Given the description of an element on the screen output the (x, y) to click on. 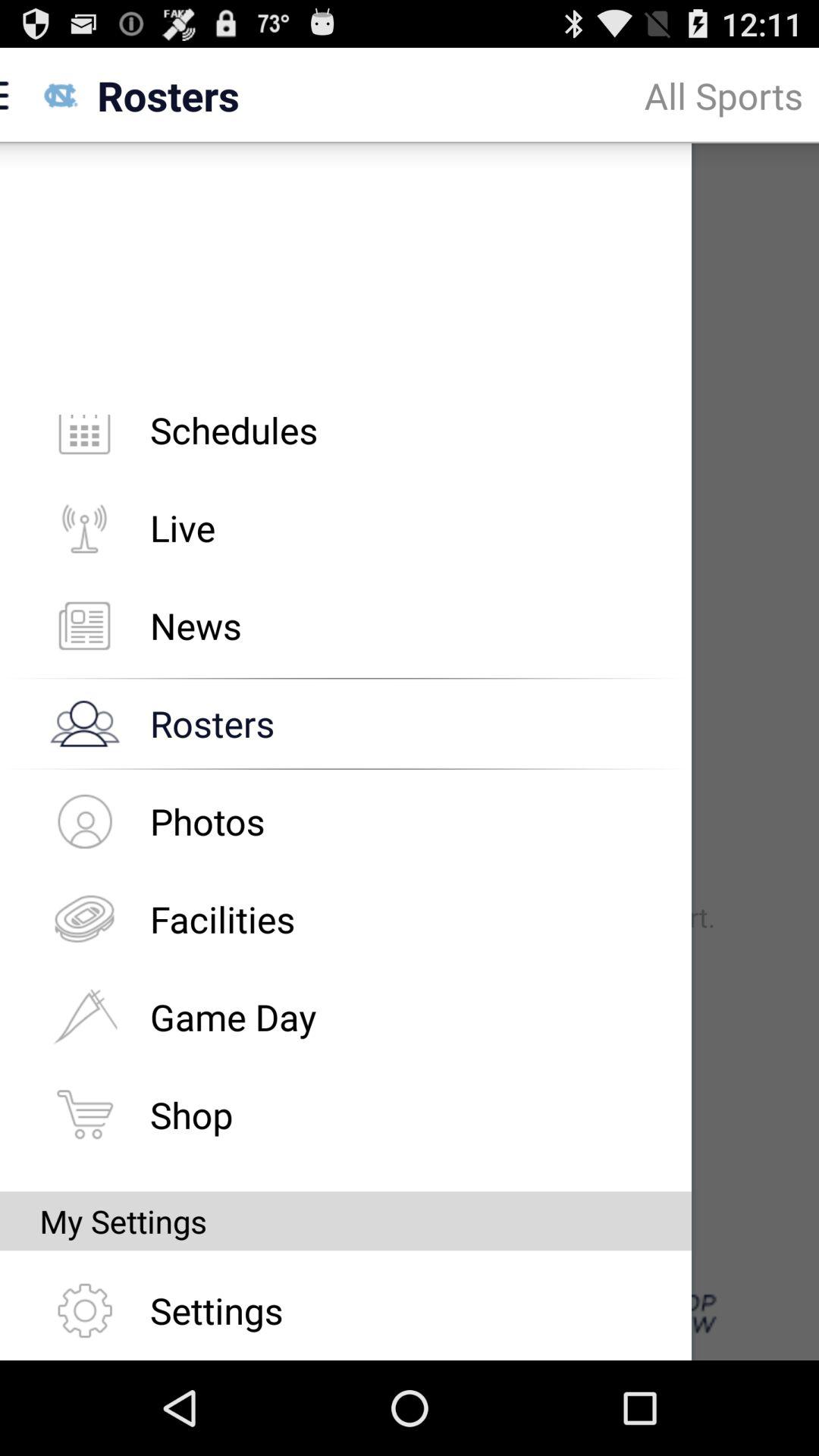
click on the icon beside schedules (84, 439)
click on roasters icon down to the news icon (84, 723)
